Given the description of an element on the screen output the (x, y) to click on. 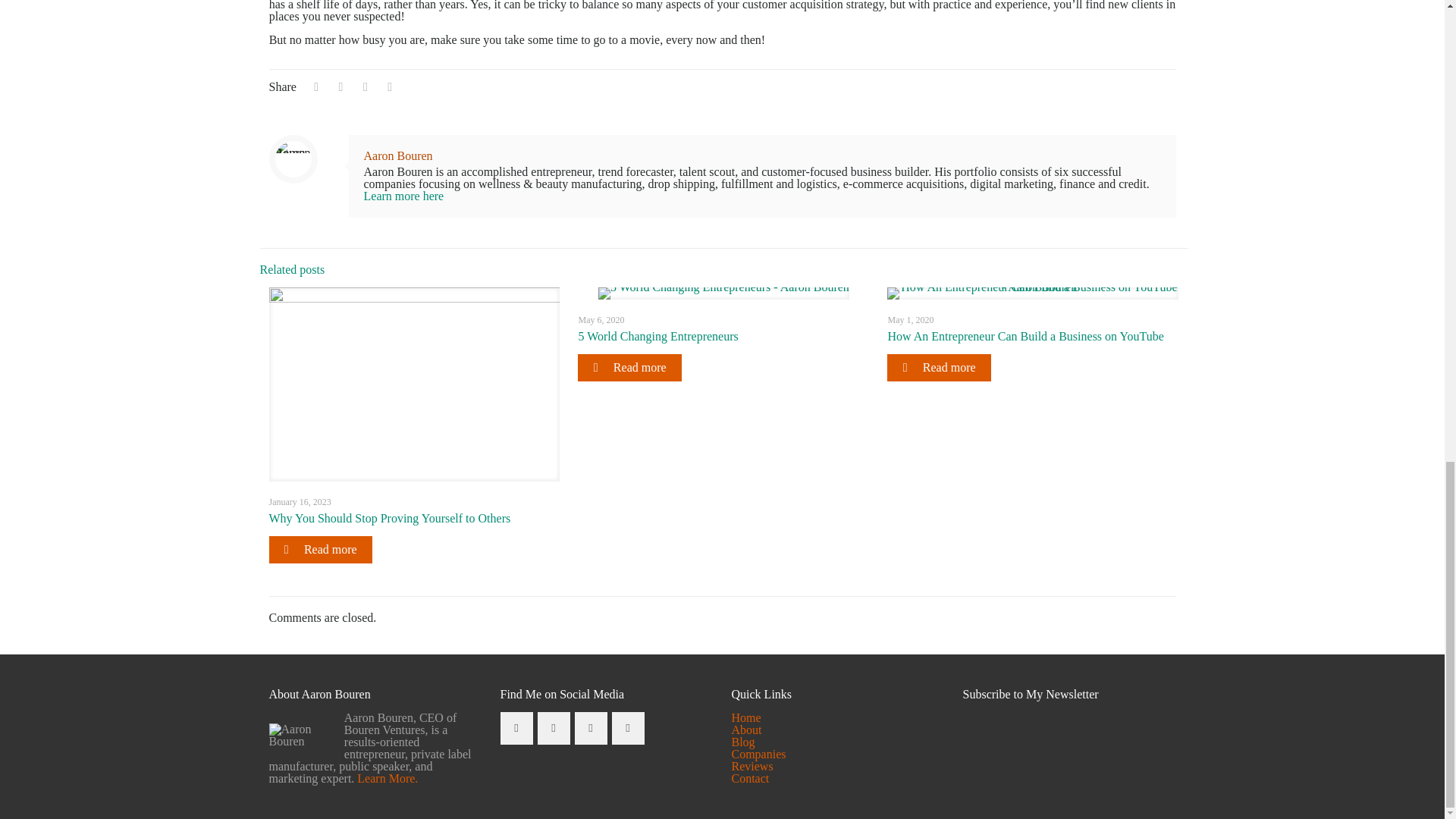
Home (745, 717)
Why You Should Stop Proving Yourself to Others (389, 517)
Read more (629, 367)
Learn more here (404, 195)
How An Entrepreneur Can Build a Business on YouTube (1024, 336)
Read more (319, 549)
Aaron Bouren (398, 155)
Learn More. (385, 778)
5 World Changing Entrepreneurs (658, 336)
Read more (938, 367)
